Given the description of an element on the screen output the (x, y) to click on. 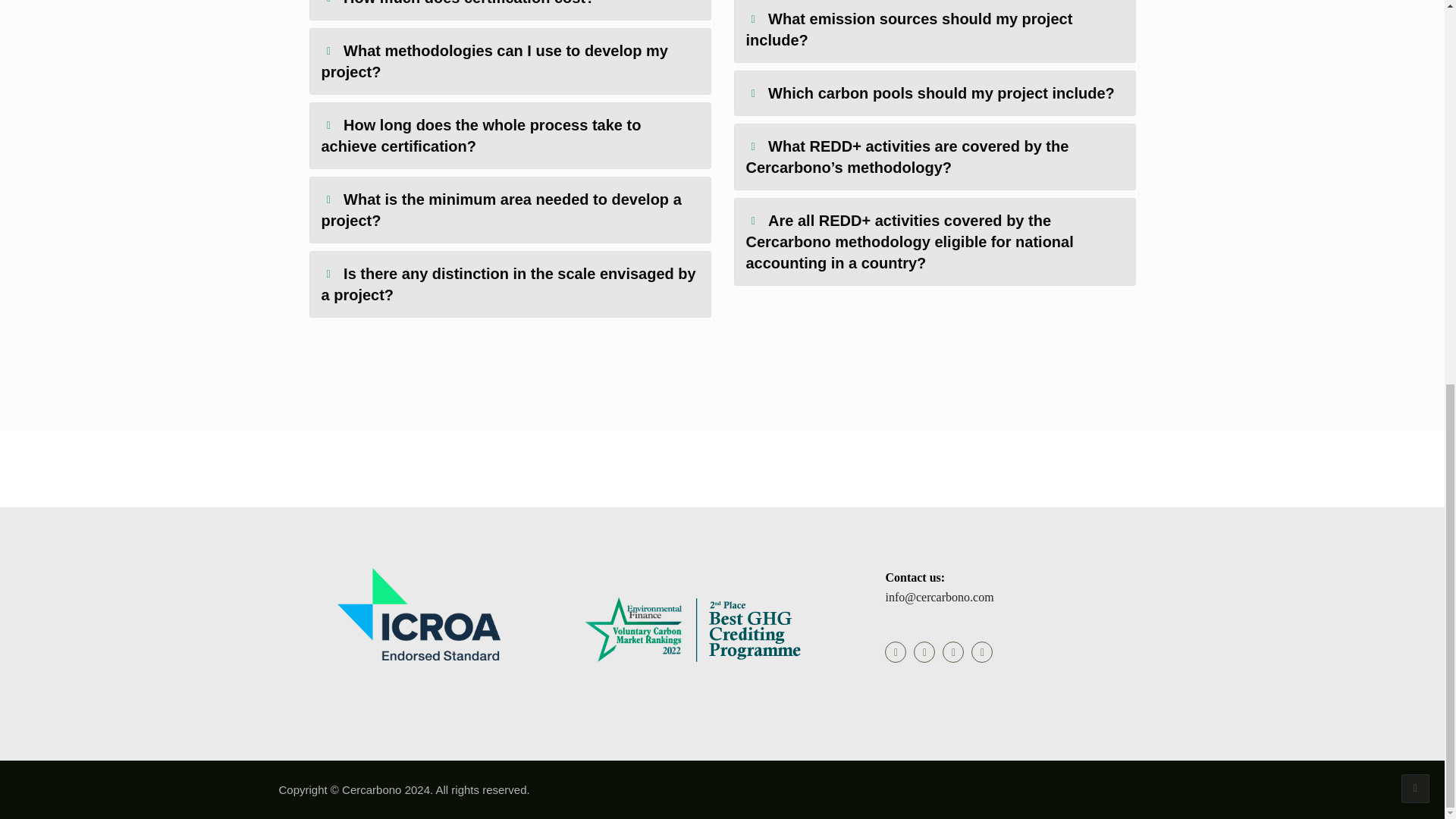
How much does certification cost? (509, 9)
